Given the description of an element on the screen output the (x, y) to click on. 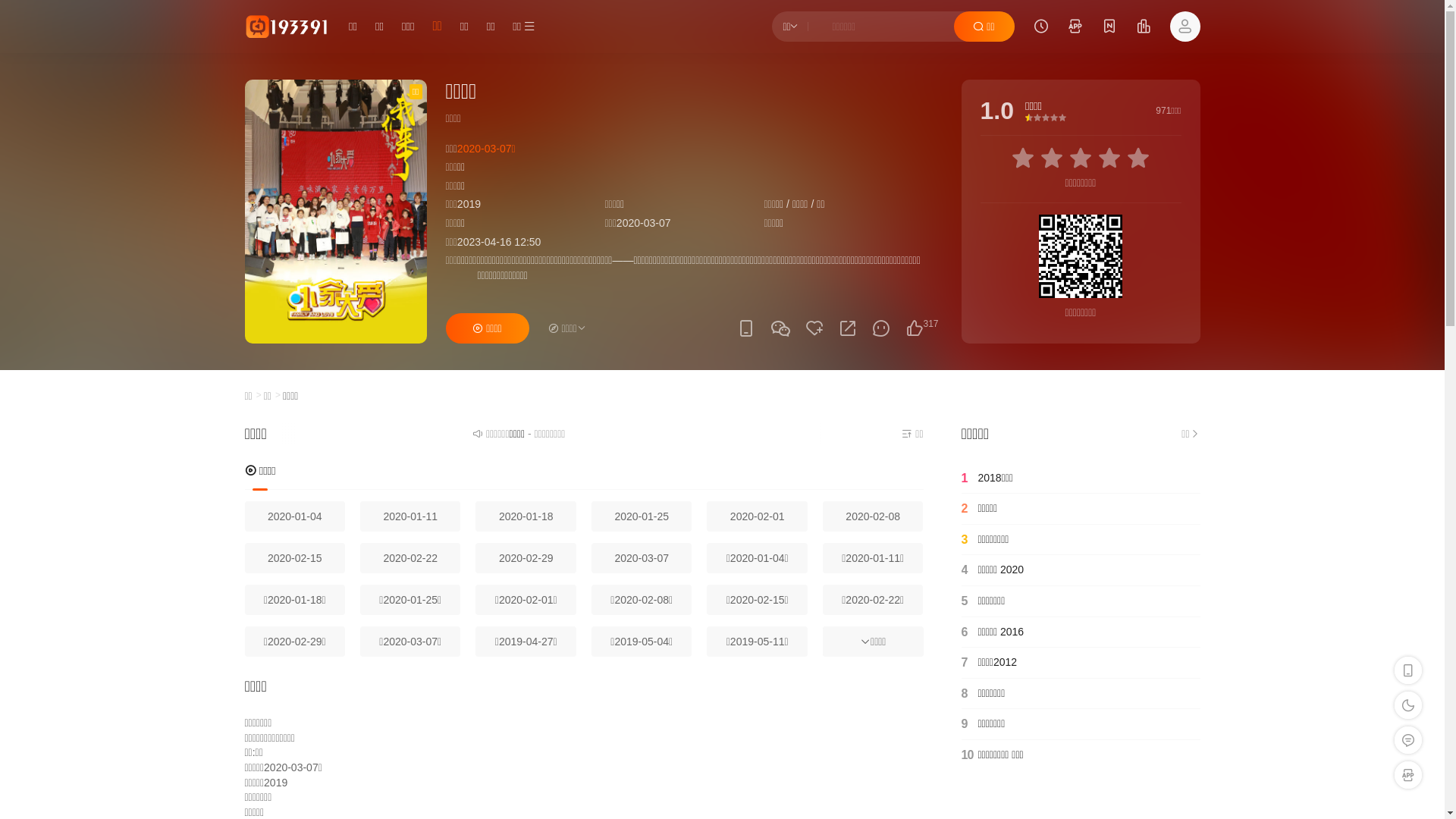
2020-01-11 Element type: text (410, 516)
2020-02-15 Element type: text (294, 557)
2020-02-29 Element type: text (525, 557)
2020-03-07 Element type: text (641, 557)
2020-02-01 Element type: text (756, 516)
2020-02-22 Element type: text (410, 557)
2020-02-08 Element type: text (872, 516)
2020-01-04 Element type: text (294, 516)
317 Element type: text (914, 328)
2020-01-18 Element type: text (525, 516)
2020-01-25 Element type: text (641, 516)
